Given the description of an element on the screen output the (x, y) to click on. 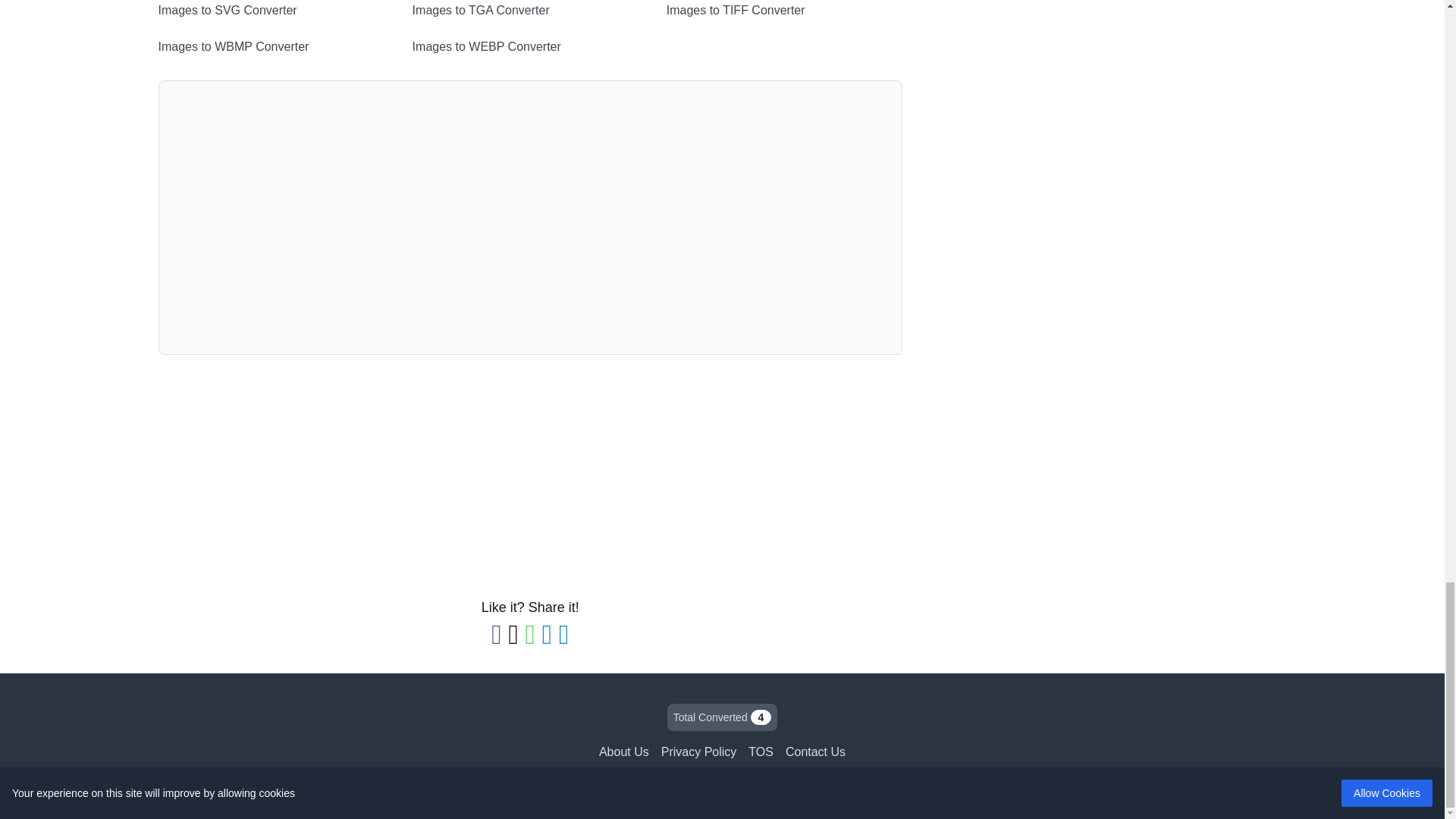
Images to WBMP Converter (275, 46)
Images to TIFF Converter (784, 10)
Images to TGA Converter (529, 10)
Images to WEBP Converter (529, 46)
Images to SVG Converter (275, 10)
